Given the description of an element on the screen output the (x, y) to click on. 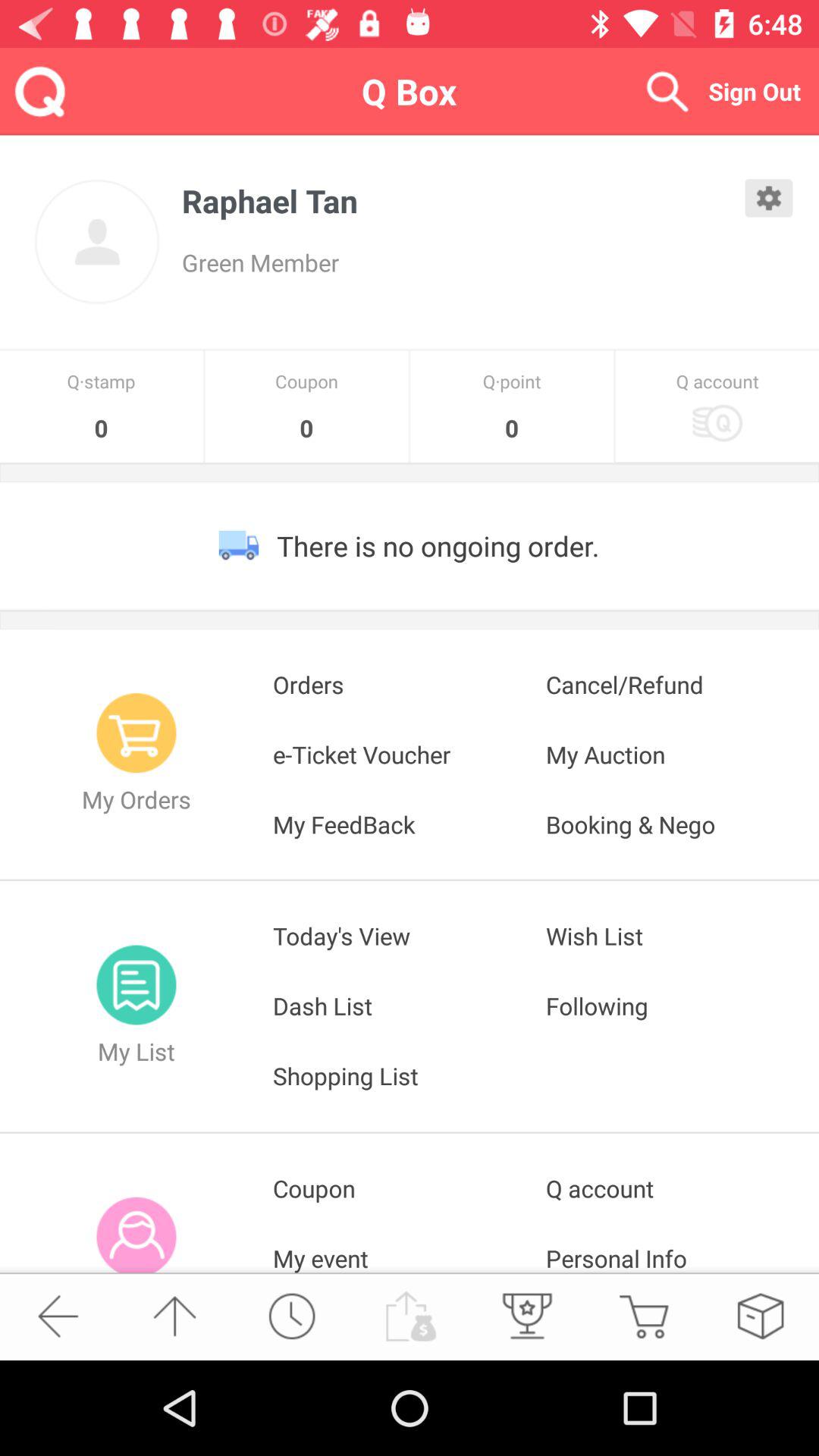
press the app next to the orders icon (682, 684)
